Given the description of an element on the screen output the (x, y) to click on. 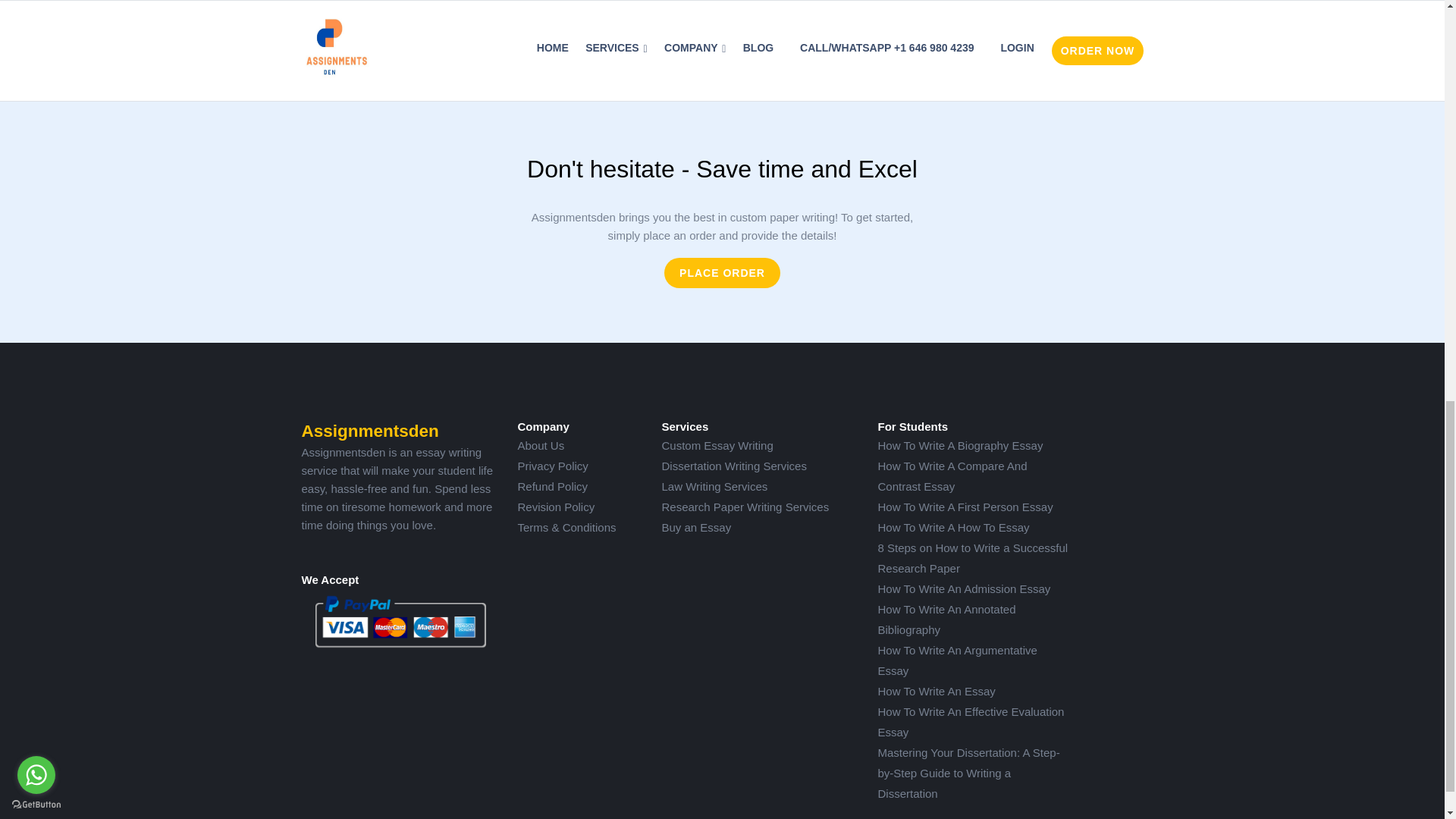
Dissertation Writing Services (733, 465)
Research Paper Writing Services (744, 506)
About Us (540, 445)
PLACE ORDER (721, 272)
Law Writing Services (714, 486)
Custom Essay Writing (717, 445)
Revision Policy (555, 506)
Assignmentsden (370, 430)
Privacy Policy (552, 465)
Refund Policy (552, 486)
